Given the description of an element on the screen output the (x, y) to click on. 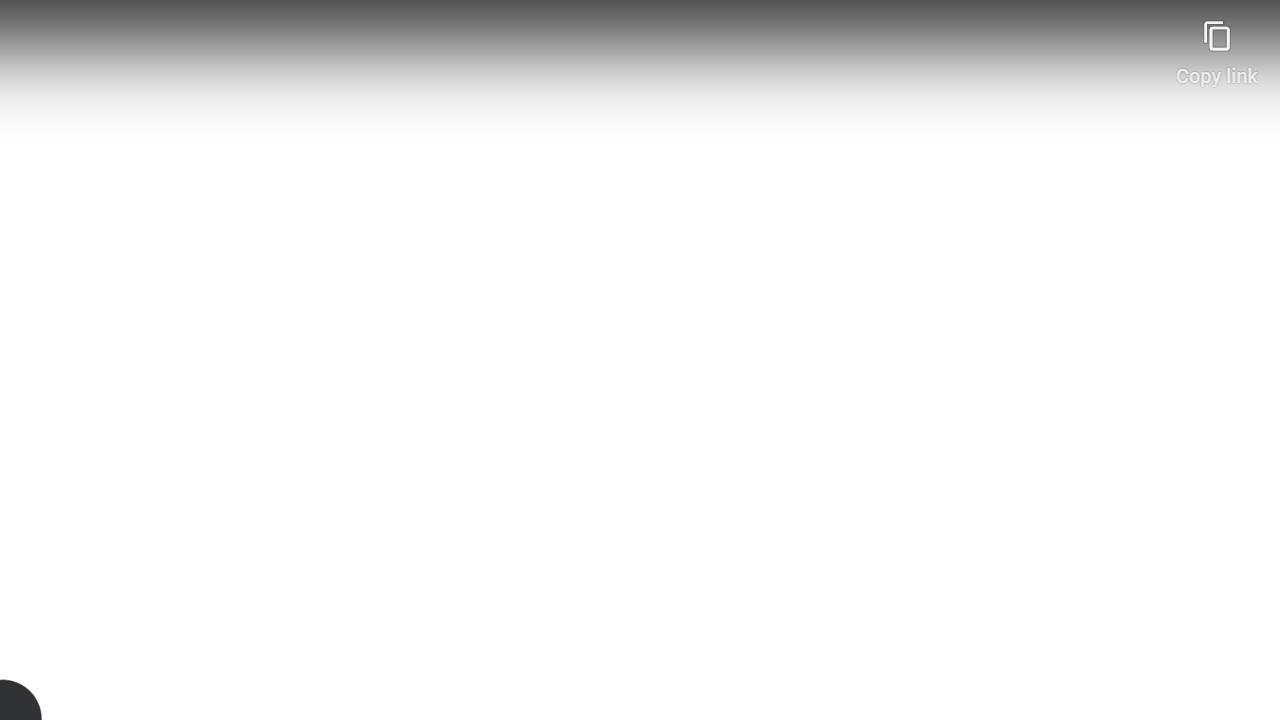
Copy link (1216, 44)
